Given the description of an element on the screen output the (x, y) to click on. 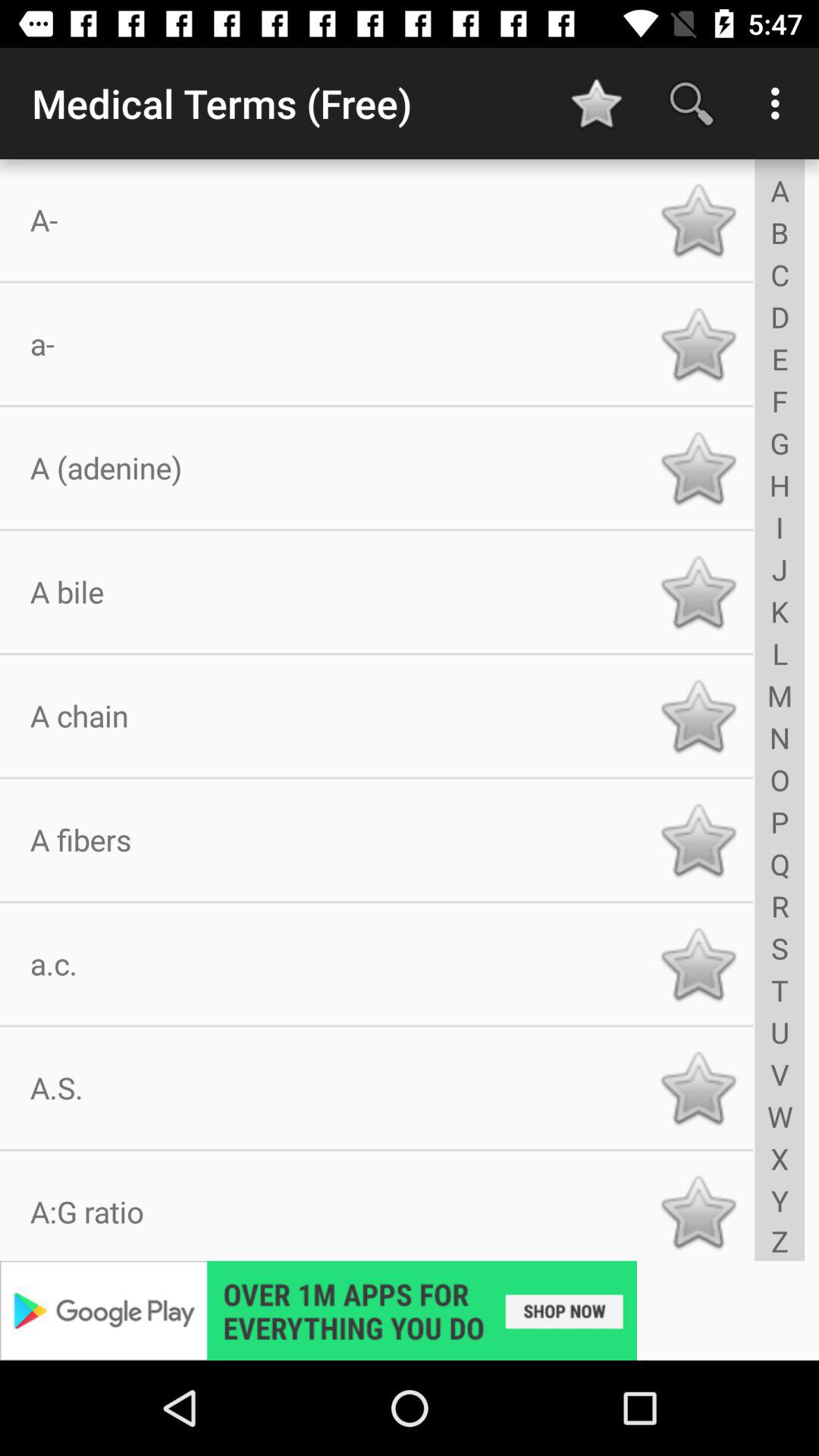
make a favorite word (697, 963)
